Given the description of an element on the screen output the (x, y) to click on. 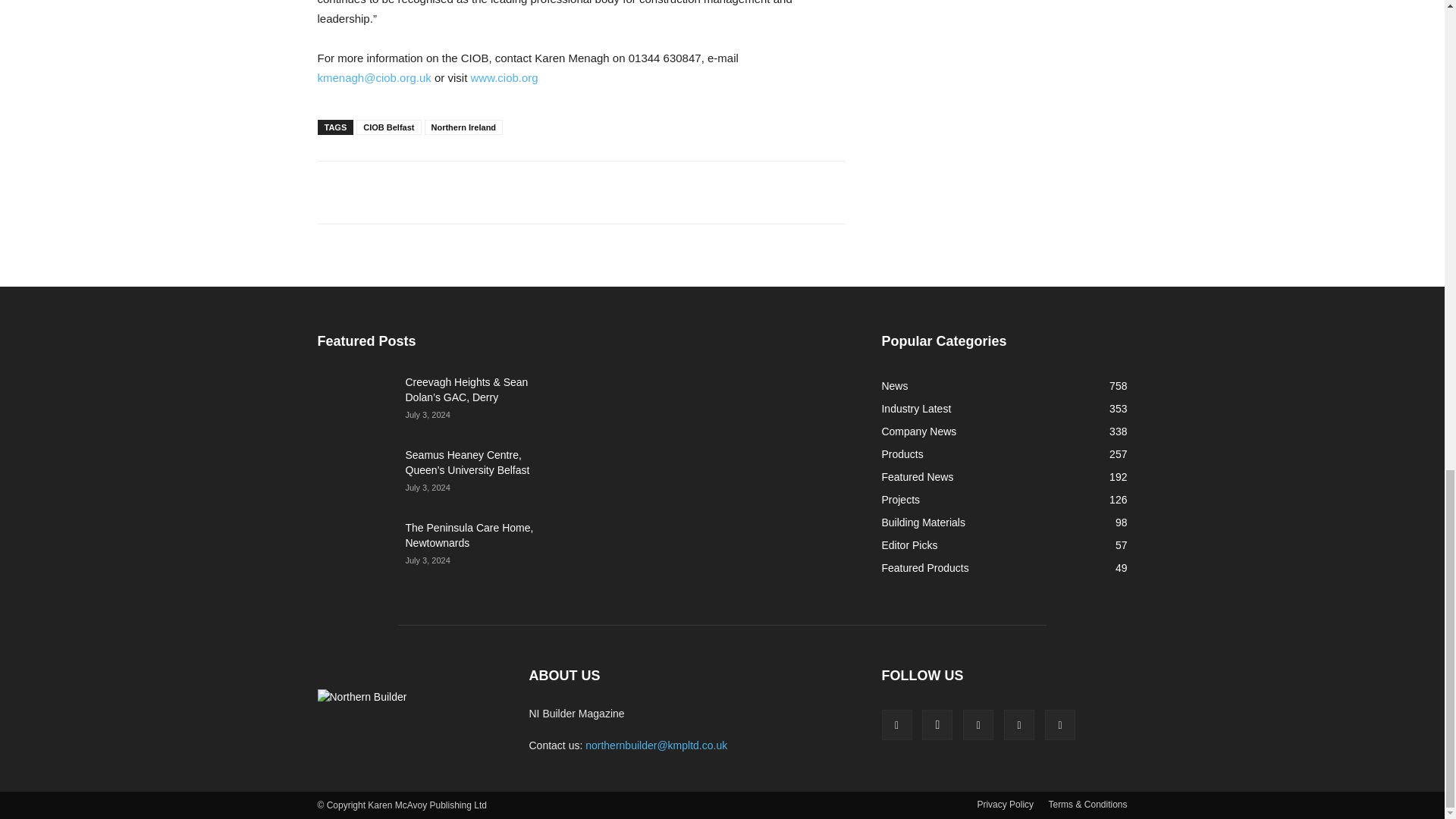
The Peninsula Care Home, Newtownards (355, 546)
